Given the description of an element on the screen output the (x, y) to click on. 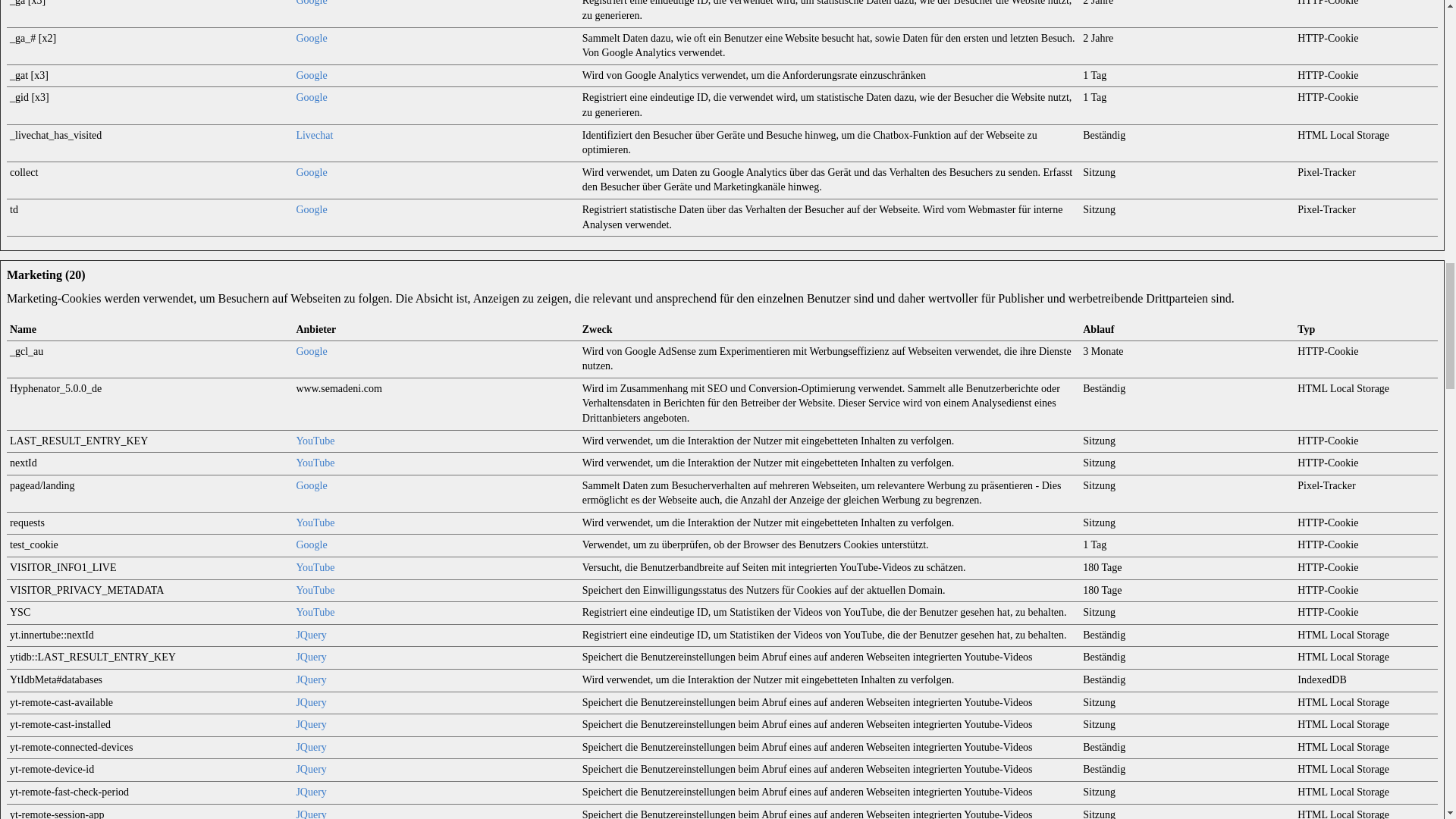
Google (310, 485)
YouTube (314, 612)
Google (310, 38)
Google (310, 75)
Google (310, 351)
YouTube (314, 590)
Google (310, 2)
JQuery (310, 634)
Google (310, 209)
YouTube (314, 462)
die Datenschutzrichtlinie von Google (310, 38)
YouTube (314, 567)
YouTube (314, 440)
Livechat (314, 134)
YouTube (314, 522)
